Given the description of an element on the screen output the (x, y) to click on. 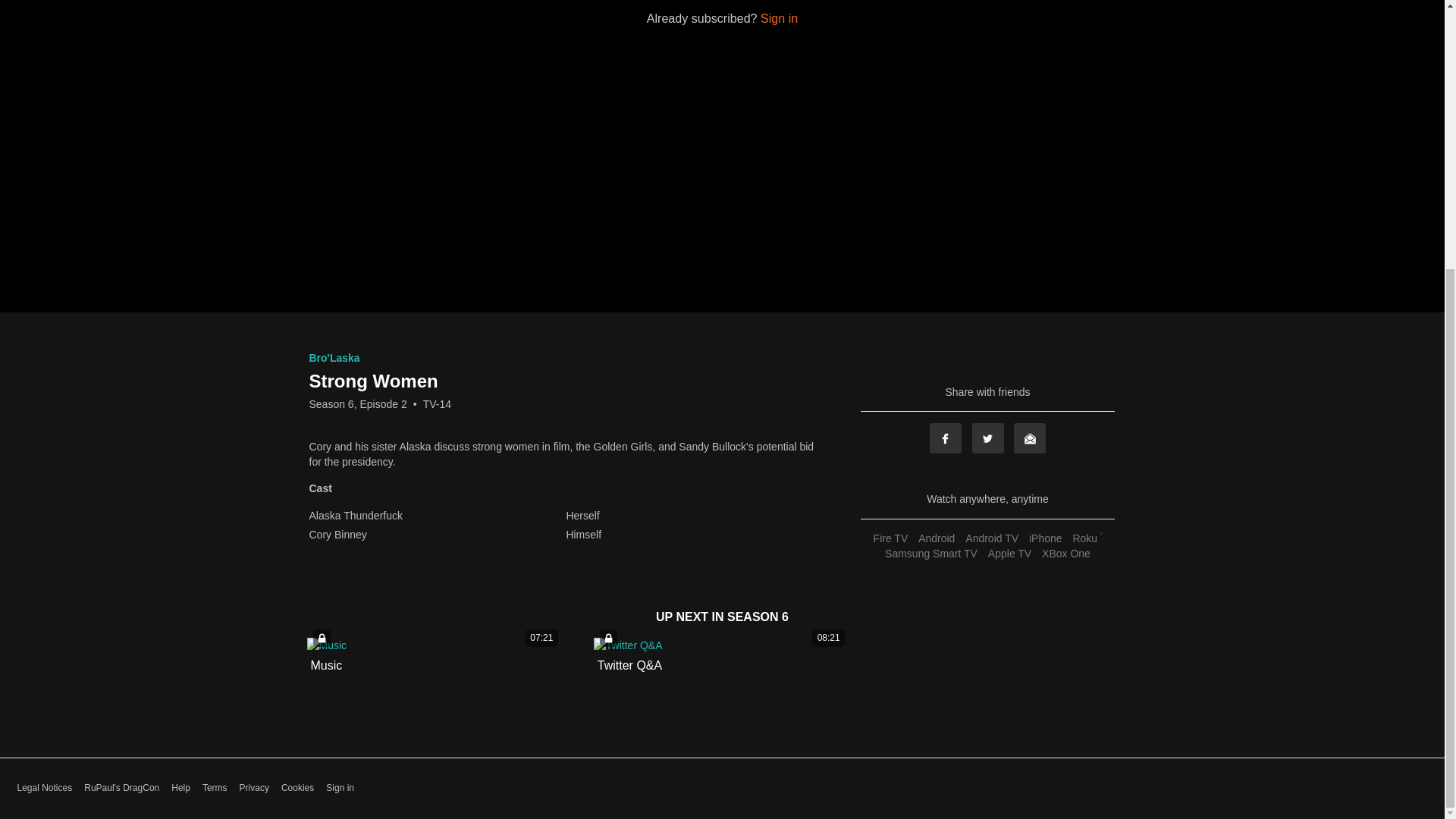
Season 6, Episode 2 (357, 403)
Cory Binney (435, 534)
Legal Notices (43, 788)
Sign in (778, 18)
Fire TV (890, 538)
Music (326, 665)
07:21 (434, 644)
RuPaul's DragCon (121, 788)
Email (1029, 438)
Apple TV (1009, 553)
